Given the description of an element on the screen output the (x, y) to click on. 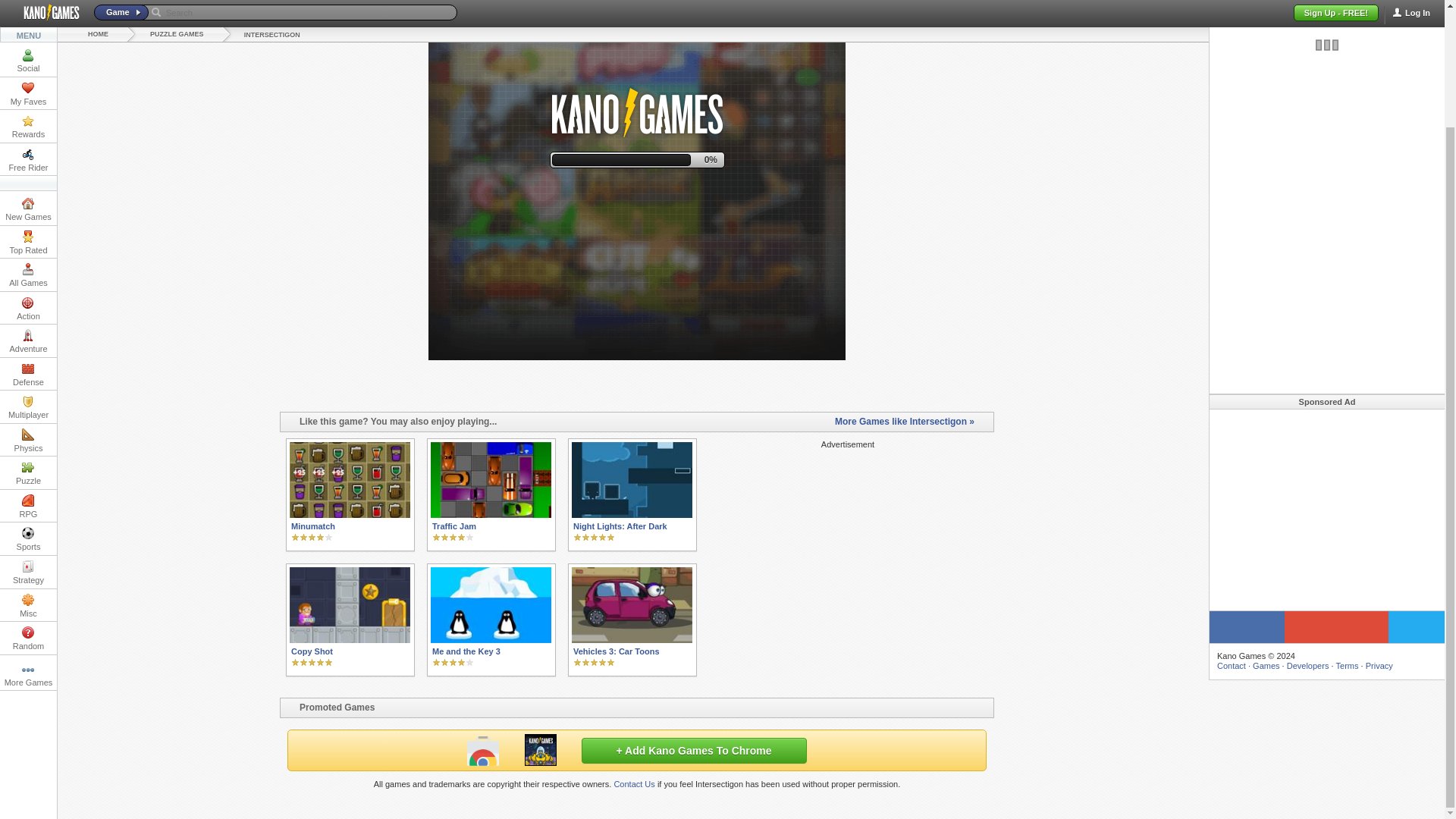
Defense (28, 234)
KG (540, 749)
RPG (28, 366)
Multiplayer (28, 266)
Misc (28, 464)
Puzzle (28, 332)
Adventure (28, 201)
All Games (28, 134)
Rewards (28, 1)
Sports (28, 399)
